Given the description of an element on the screen output the (x, y) to click on. 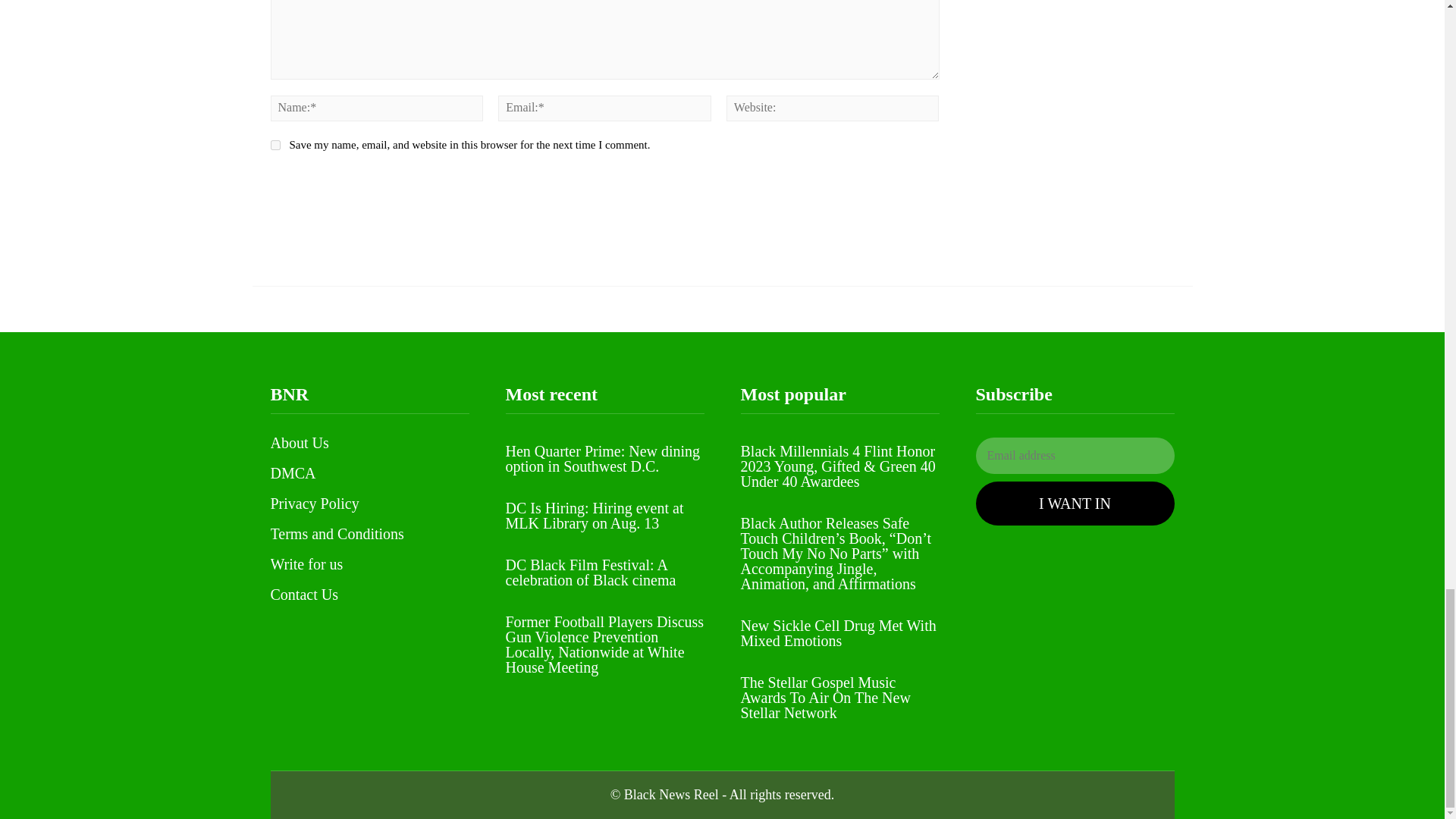
Post Comment (338, 185)
yes (274, 144)
